Given the description of an element on the screen output the (x, y) to click on. 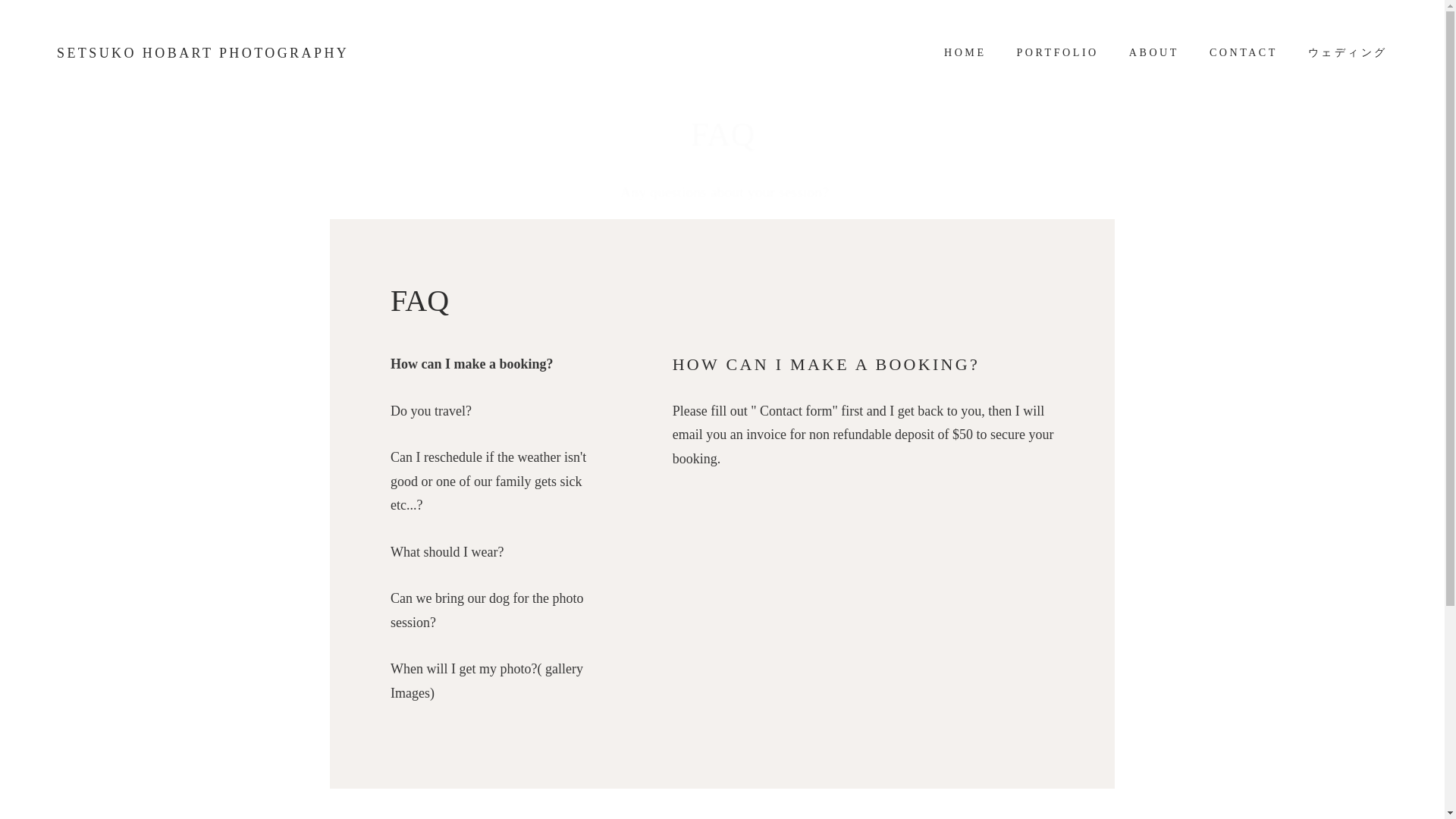
SETSUKO HOBART PHOTOGRAPHY (202, 52)
HOME (965, 53)
PORTFOLIO (1057, 53)
ABOUT (1153, 53)
CONTACT (1243, 53)
